Given the description of an element on the screen output the (x, y) to click on. 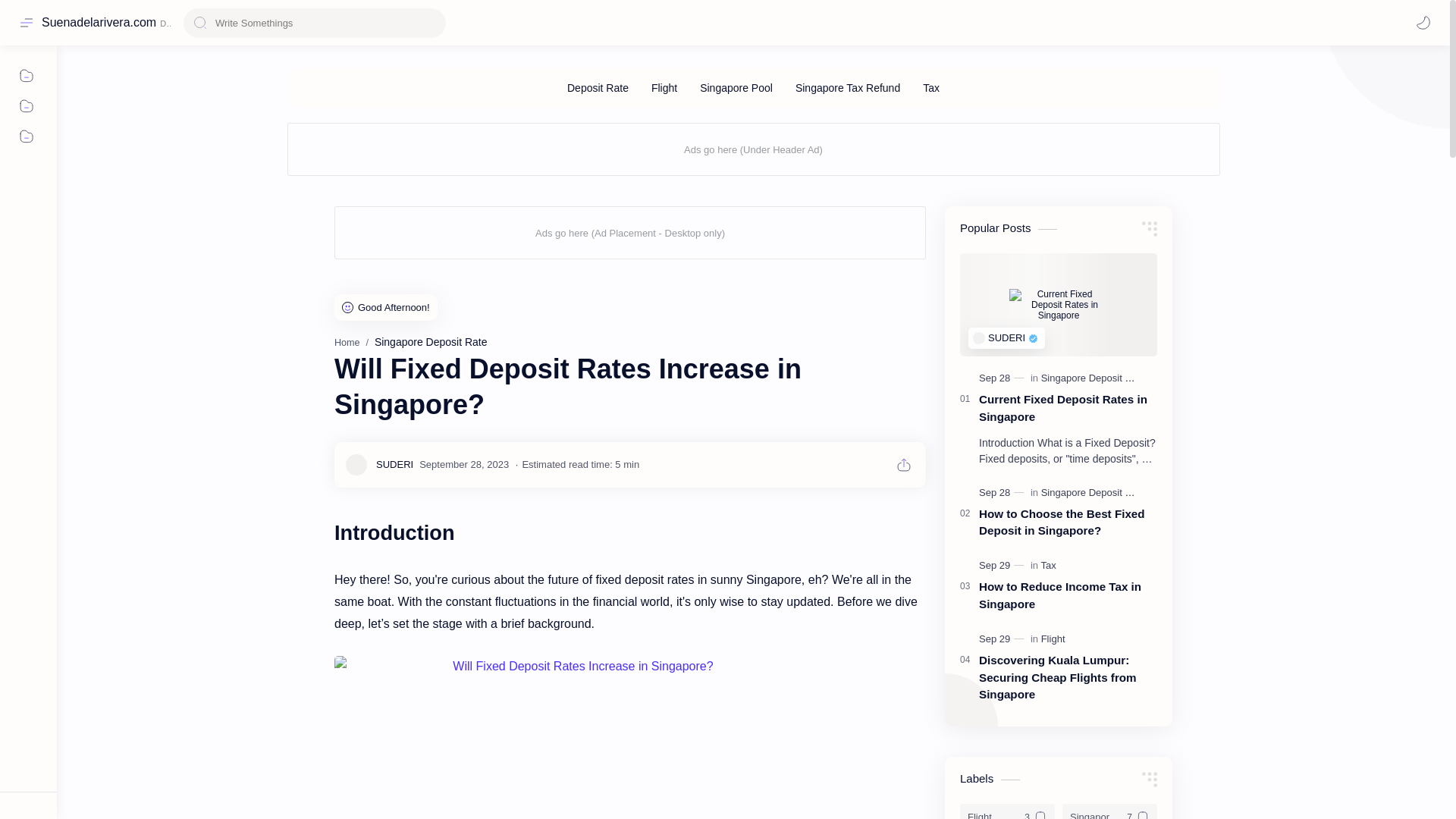
Singapore Deposit Rate (430, 341)
Published: September 28, 2023 (1002, 492)
Published: September 29, 2023 (1002, 639)
Published: September 28, 2023 (1002, 377)
Will Fixed Deposit Rates Increase in Singapore? (576, 737)
How to Choose the Best Fixed Deposit in Singapore? (1067, 523)
Published: September 28, 2023 (463, 464)
Published: September 29, 2023 (1002, 565)
Current Fixed Deposit Rates in Singapore (1067, 408)
Home (346, 342)
Suenadelarivera.com (98, 22)
